Given the description of an element on the screen output the (x, y) to click on. 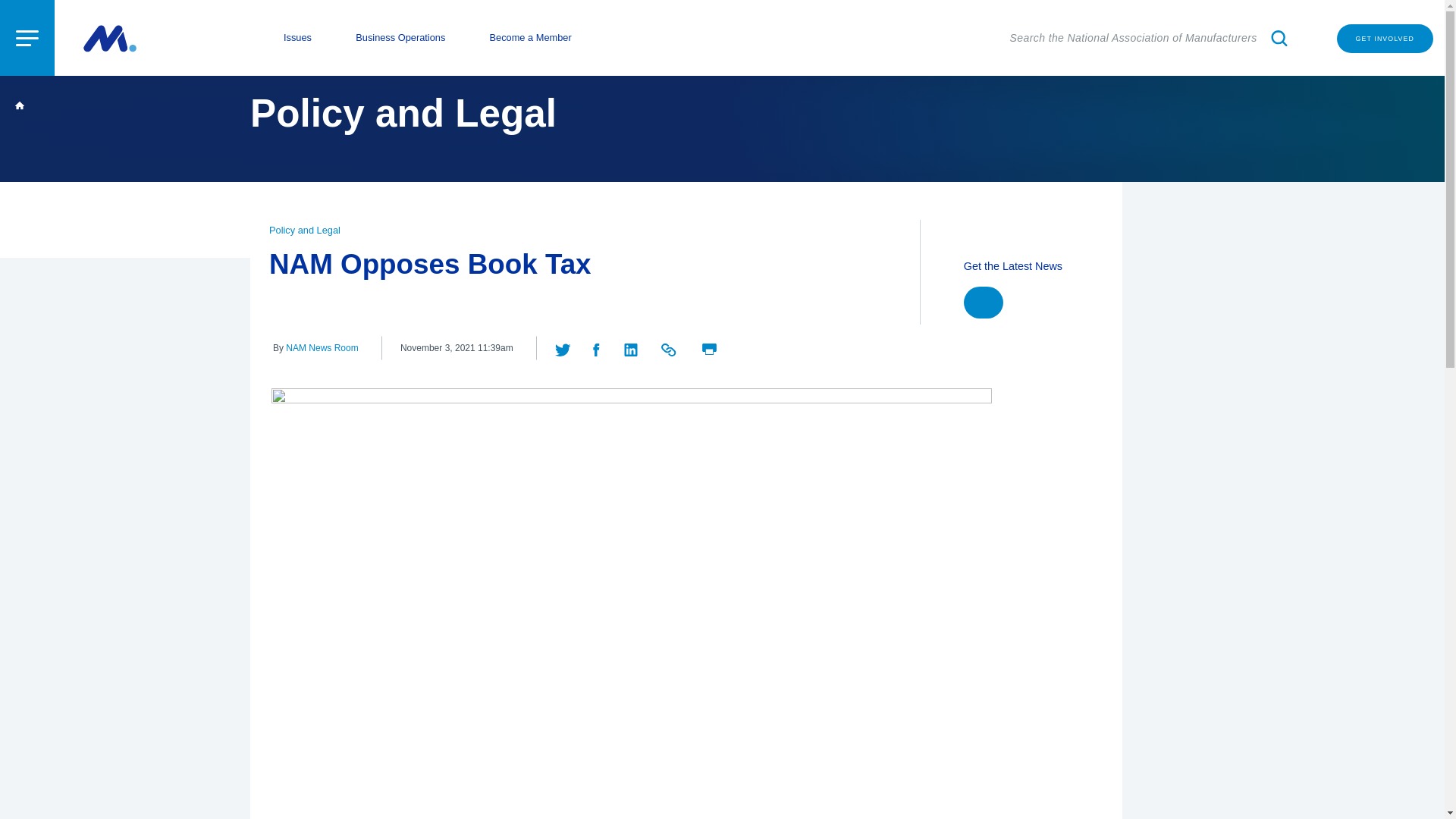
Print Page (708, 346)
Share on LinkedIn (631, 347)
GET INVOLVED (1384, 39)
Issues (297, 37)
Share on Twitter (563, 347)
Policy and Legal (304, 229)
Become a Member (530, 37)
Wednesday, November 3rd at 11:39am (456, 348)
NAM News Room (321, 347)
Business Operations (400, 37)
Share on Facebook (597, 347)
Search the National Association of Manufacturers (1150, 37)
Share Link (669, 347)
